Given the description of an element on the screen output the (x, y) to click on. 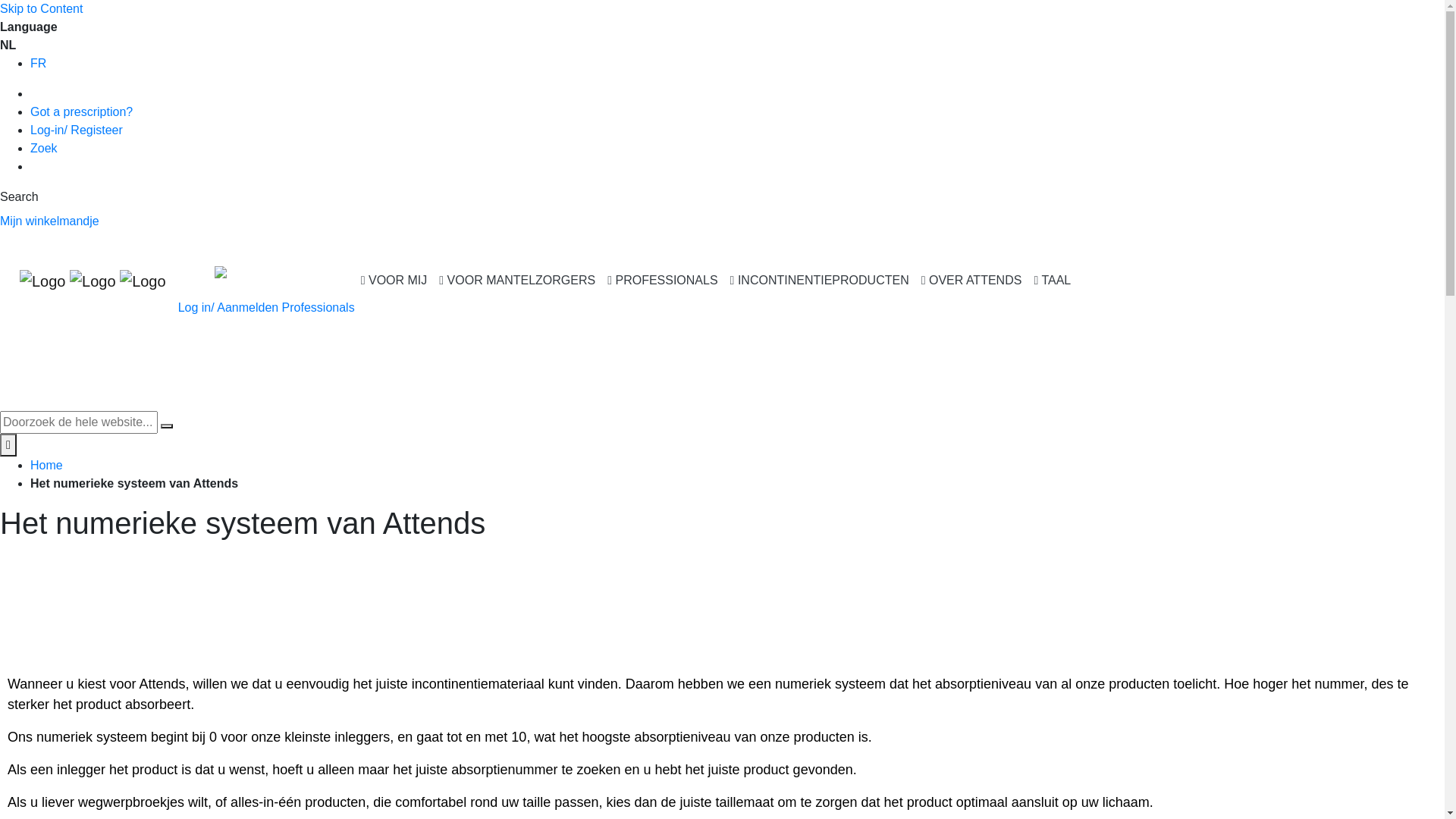
Log in/ Aanmelden Professionals Element type: text (266, 307)
FR Element type: text (38, 62)
INCONTINENTIEPRODUCTEN Element type: text (819, 280)
Log-in/ Registeer Element type: text (76, 129)
VOOR MANTELZORGERS Element type: text (517, 280)
Attends Logo Element type: hover (92, 280)
Home Element type: text (46, 464)
Got a prescription? Element type: text (81, 111)
VOOR MIJ Element type: text (393, 280)
TAAL Element type: text (1051, 280)
Zoek Element type: text (43, 147)
Mijn winkelmandje Element type: text (49, 220)
Skip to Content Element type: text (41, 8)
PROFESSIONALS Element type: text (662, 280)
OVER ATTENDS Element type: text (971, 280)
